Given the description of an element on the screen output the (x, y) to click on. 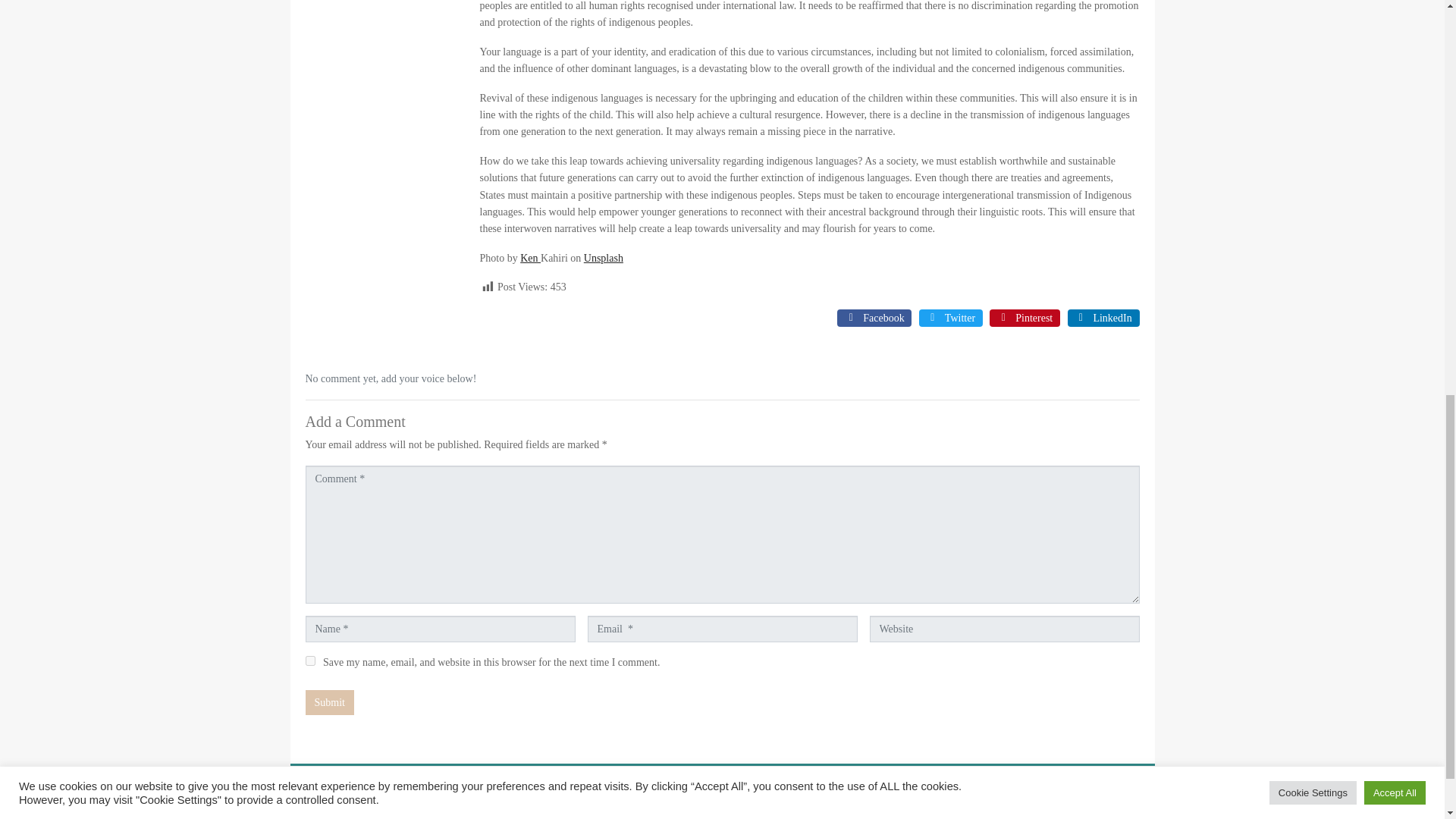
yes (309, 660)
